Given the description of an element on the screen output the (x, y) to click on. 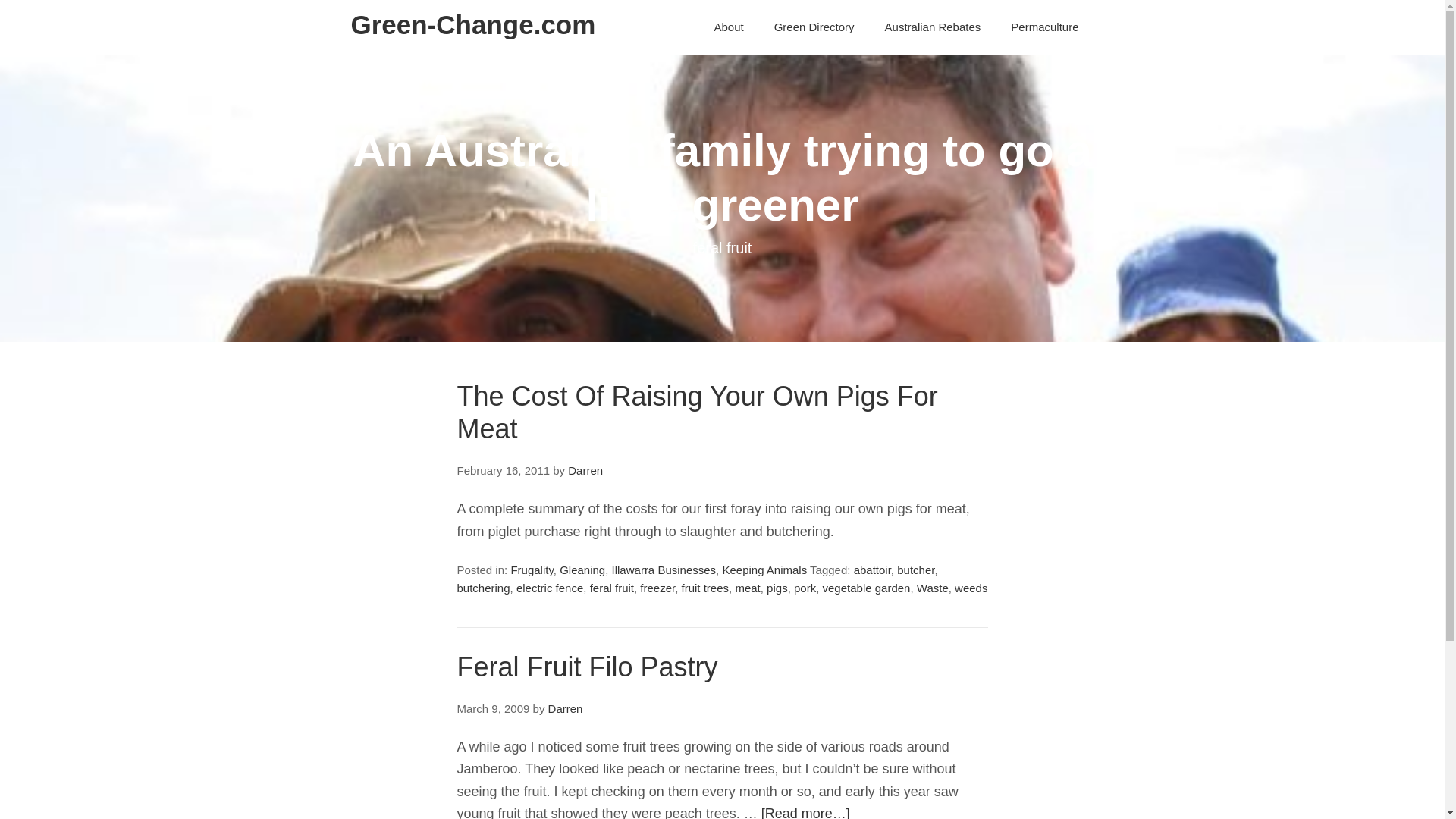
Monday, March 9, 2009, 11:21 pm (493, 707)
Frugality (532, 569)
Posts by Darren (565, 707)
electric fence (549, 587)
Posts by Darren (584, 470)
Keeping Animals (764, 569)
Gleaning (582, 569)
Waste (933, 587)
pigs (777, 587)
Darren (584, 470)
